Given the description of an element on the screen output the (x, y) to click on. 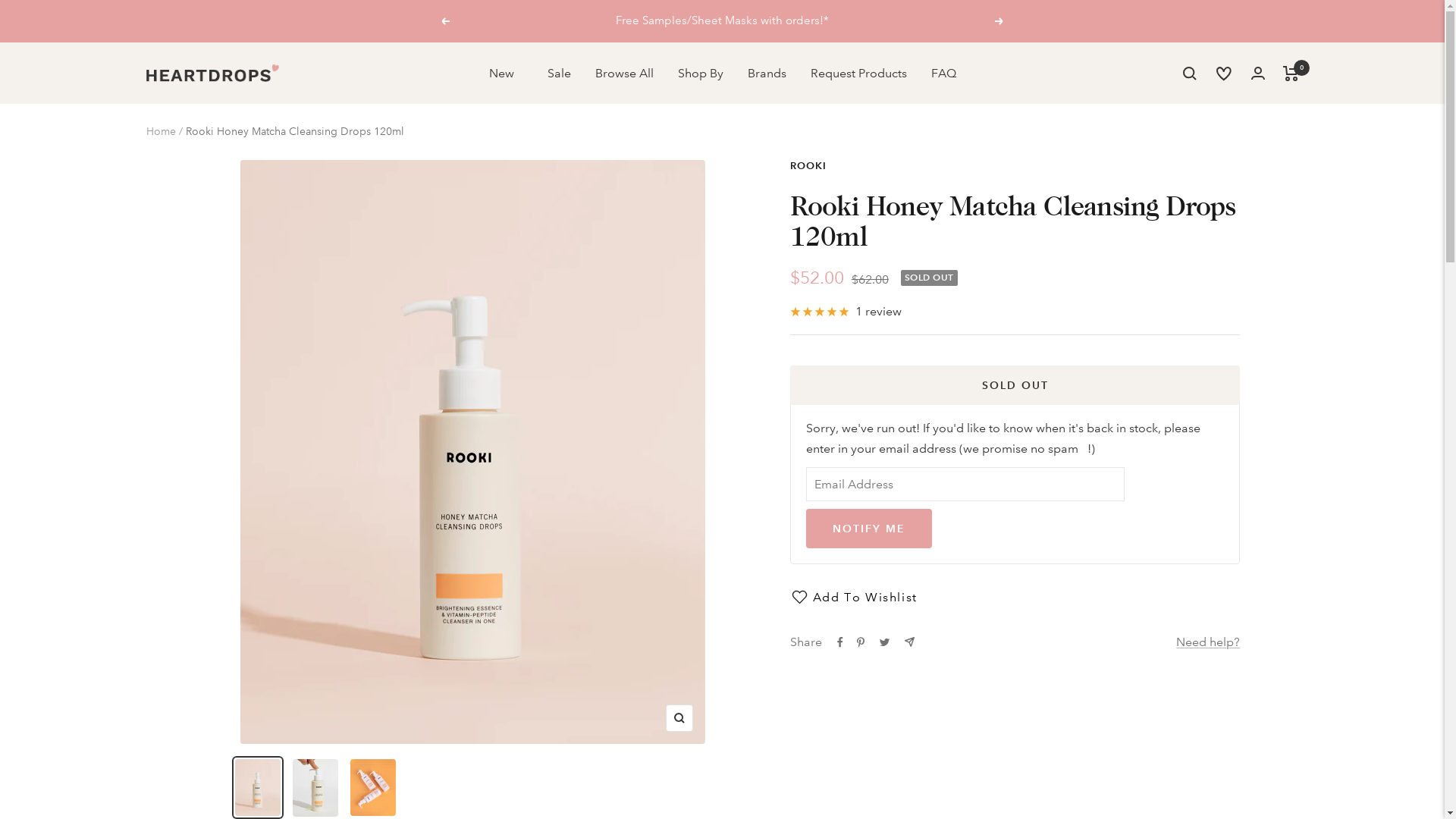
Zoom Element type: text (679, 717)
SOLD OUT Element type: text (1015, 384)
Home Element type: text (160, 131)
1 review Element type: text (845, 311)
Shop By Element type: text (700, 73)
ROOKI Element type: text (808, 166)
Sale Element type: text (559, 73)
0 Element type: text (1291, 73)
NOTIFY ME Element type: text (868, 528)
Browse All Element type: text (623, 73)
Add To Wishlist Element type: text (1015, 596)
Request Products Element type: text (857, 73)
Need help? Element type: text (1207, 641)
Next Element type: text (999, 21)
FAQ Element type: text (943, 73)
Previous Element type: text (444, 21)
Heartdrops Element type: text (211, 72)
Brands Element type: text (766, 73)
